Given the description of an element on the screen output the (x, y) to click on. 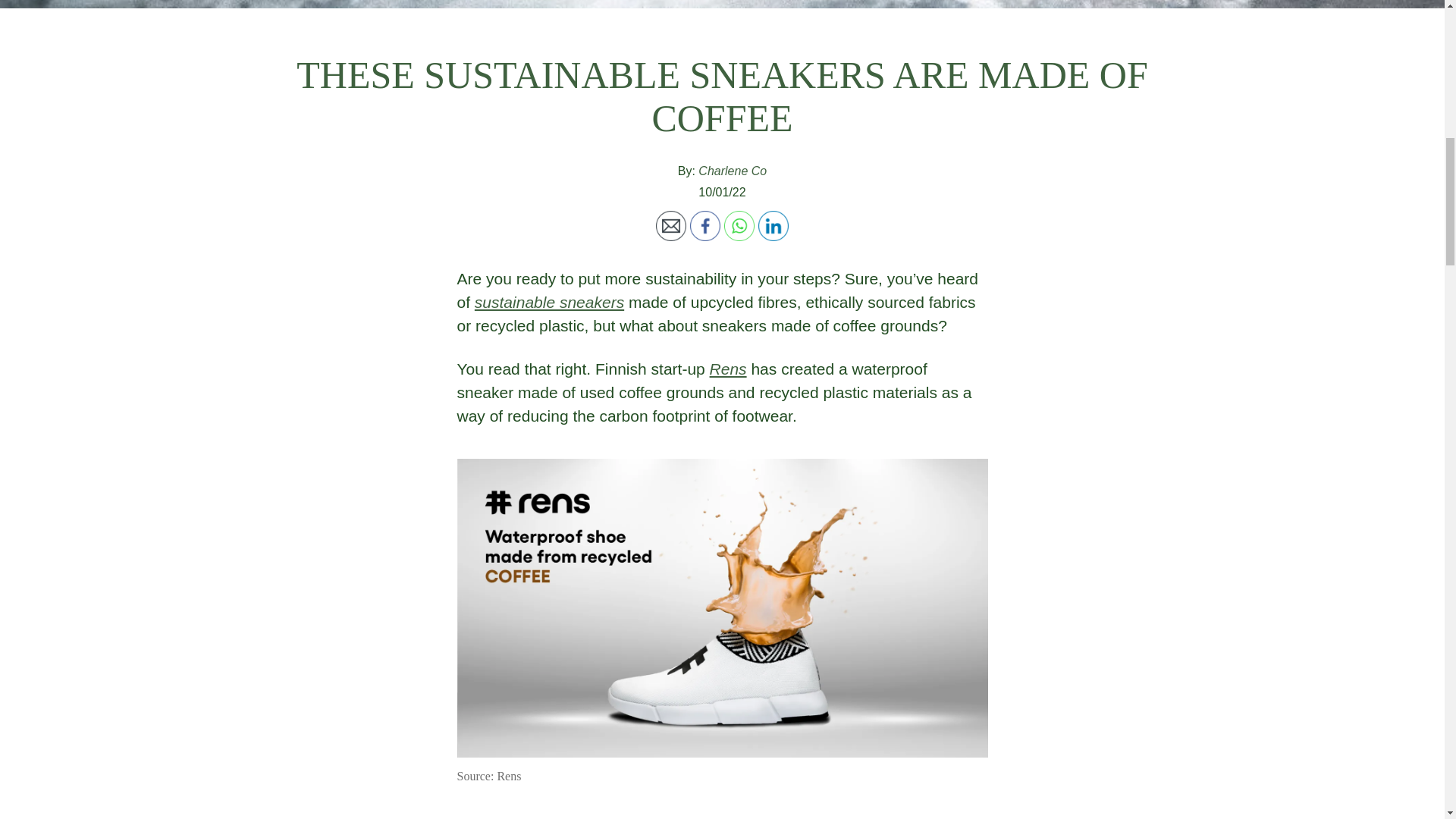
Whatsapp (738, 225)
Follow by Email (670, 225)
LinkedIn (773, 225)
Facebook (705, 225)
Charlene Co (732, 170)
